Given the description of an element on the screen output the (x, y) to click on. 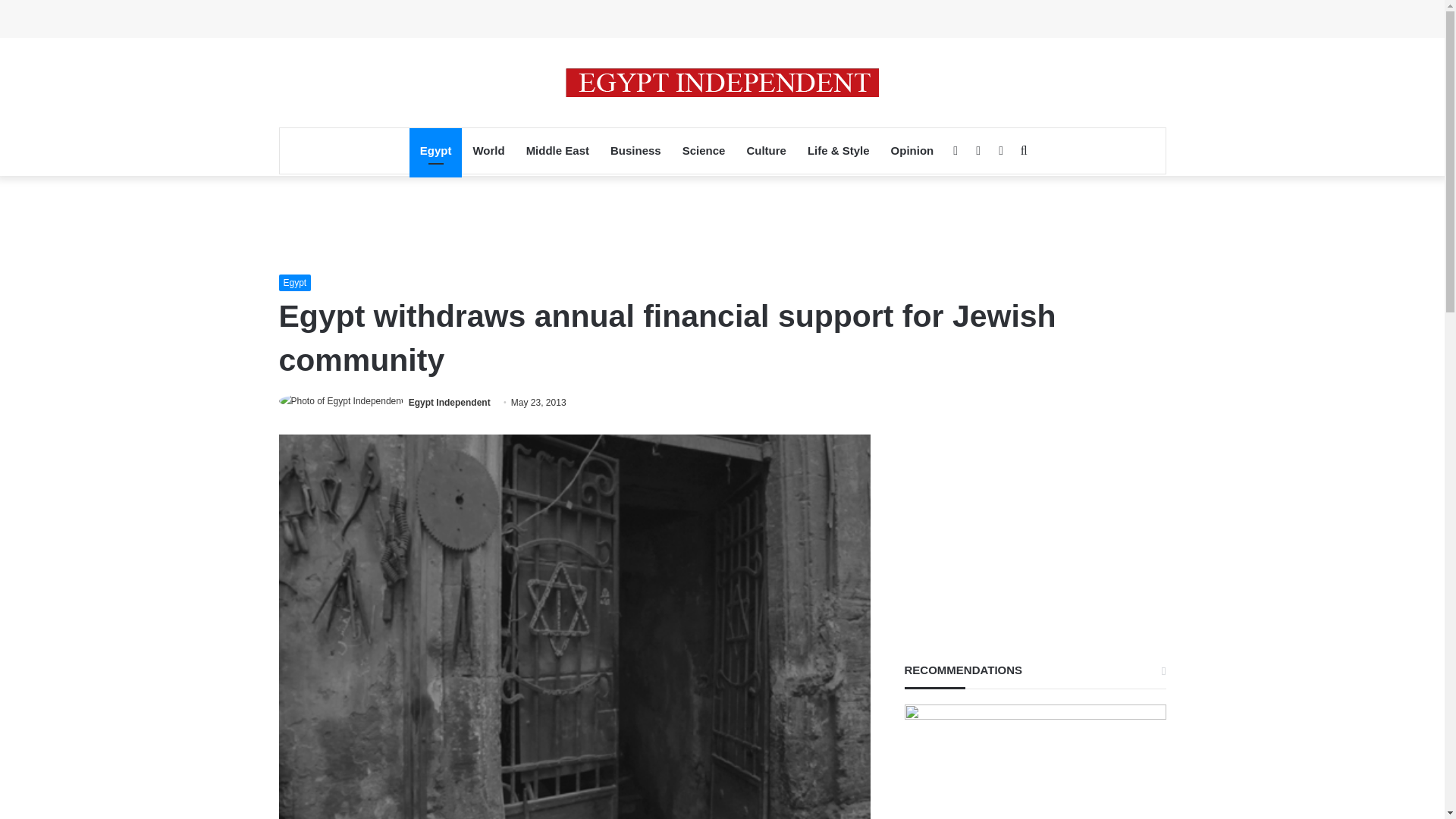
Egypt Independent (449, 402)
Opinion (912, 150)
Culture (765, 150)
Business (635, 150)
World (488, 150)
Egypt Independent (722, 82)
Middle East (557, 150)
Egypt (295, 282)
Egypt Independent (449, 402)
Egypt (436, 150)
